Given the description of an element on the screen output the (x, y) to click on. 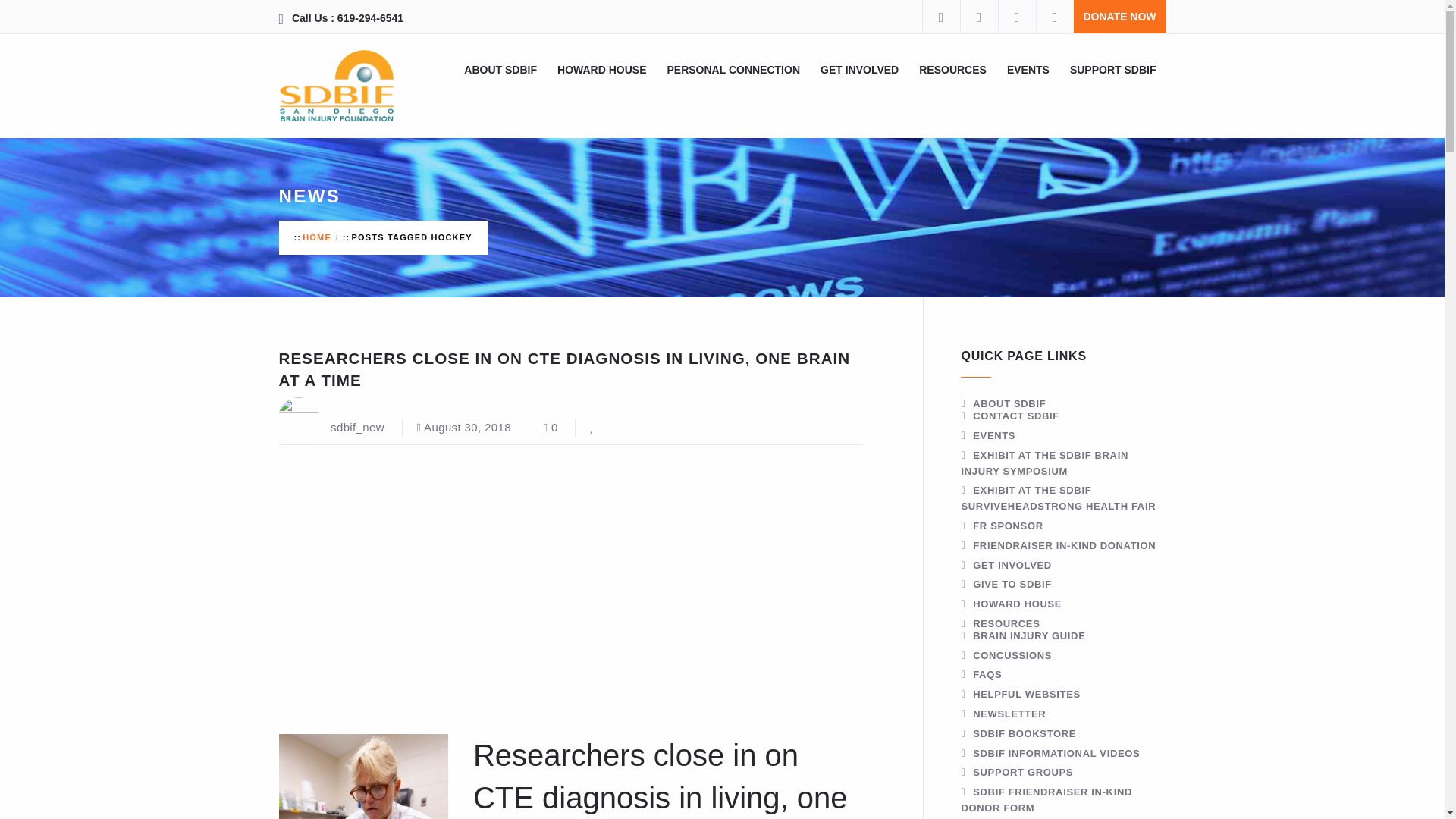
PERSONAL CONNECTION (732, 69)
YouTube (1054, 16)
RESOURCES (952, 69)
LinkedIn (1016, 16)
GET INVOLVED (859, 69)
HOME (316, 236)
ABOUT SDBIF (500, 69)
SUPPORT SDBIF (1113, 69)
HOWARD HOUSE (601, 69)
Call Us : 619-294-6541 (347, 18)
DONATE NOW (1120, 16)
Facebook (940, 16)
USATODAY- Embed Player (483, 596)
San Diego Brain Injury Foundation -  (337, 85)
